Given the description of an element on the screen output the (x, y) to click on. 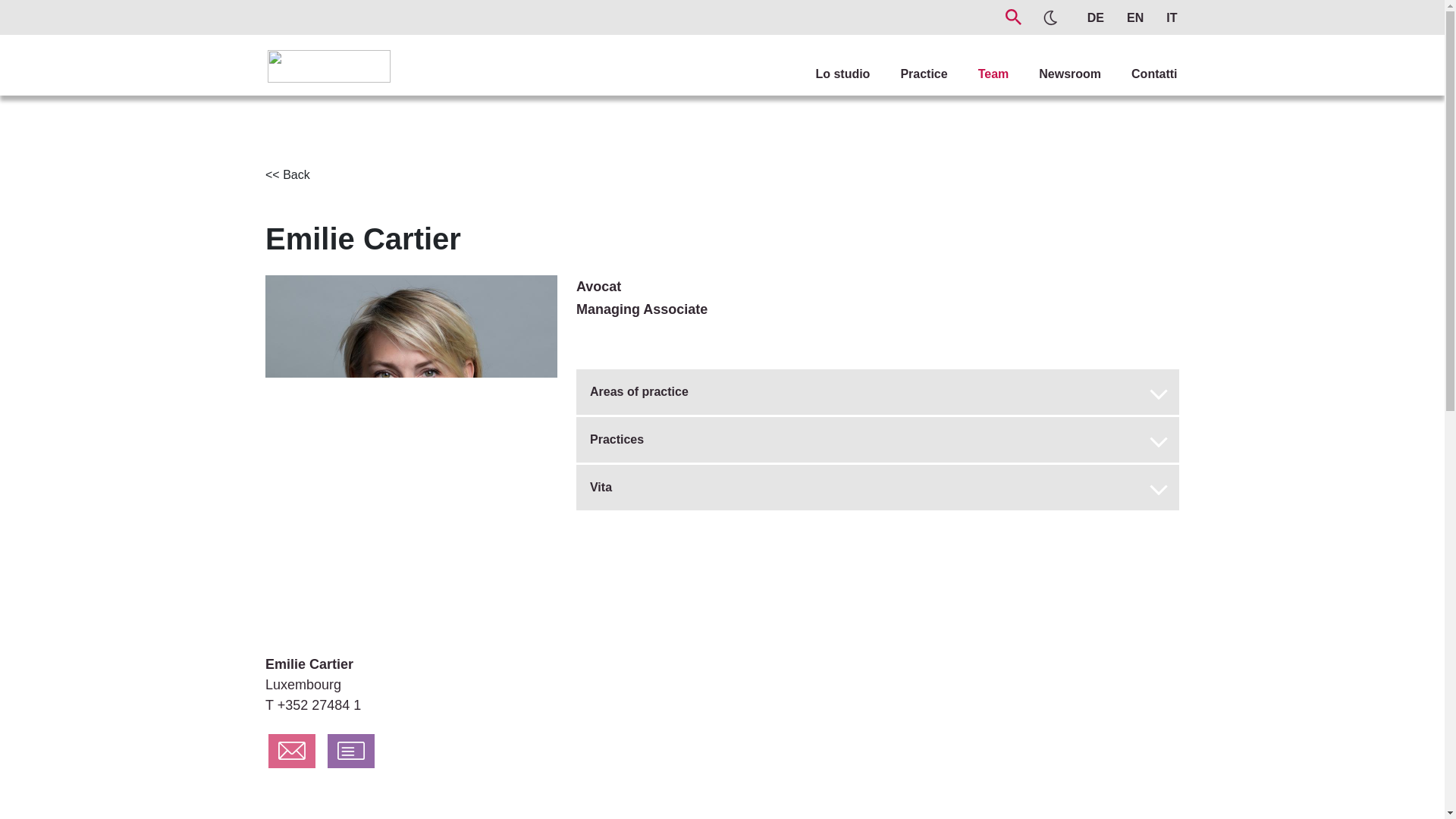
EN (1131, 13)
Practice (908, 59)
EN (1131, 13)
Practice (908, 59)
Team (978, 59)
DE (1088, 13)
Contatti (1138, 59)
Newsroom (1054, 59)
IT (1163, 13)
IT (1163, 13)
Lo studio (826, 59)
Lo studio (826, 59)
Team (978, 59)
Newsroom (1054, 59)
DE (1088, 13)
